Given the description of an element on the screen output the (x, y) to click on. 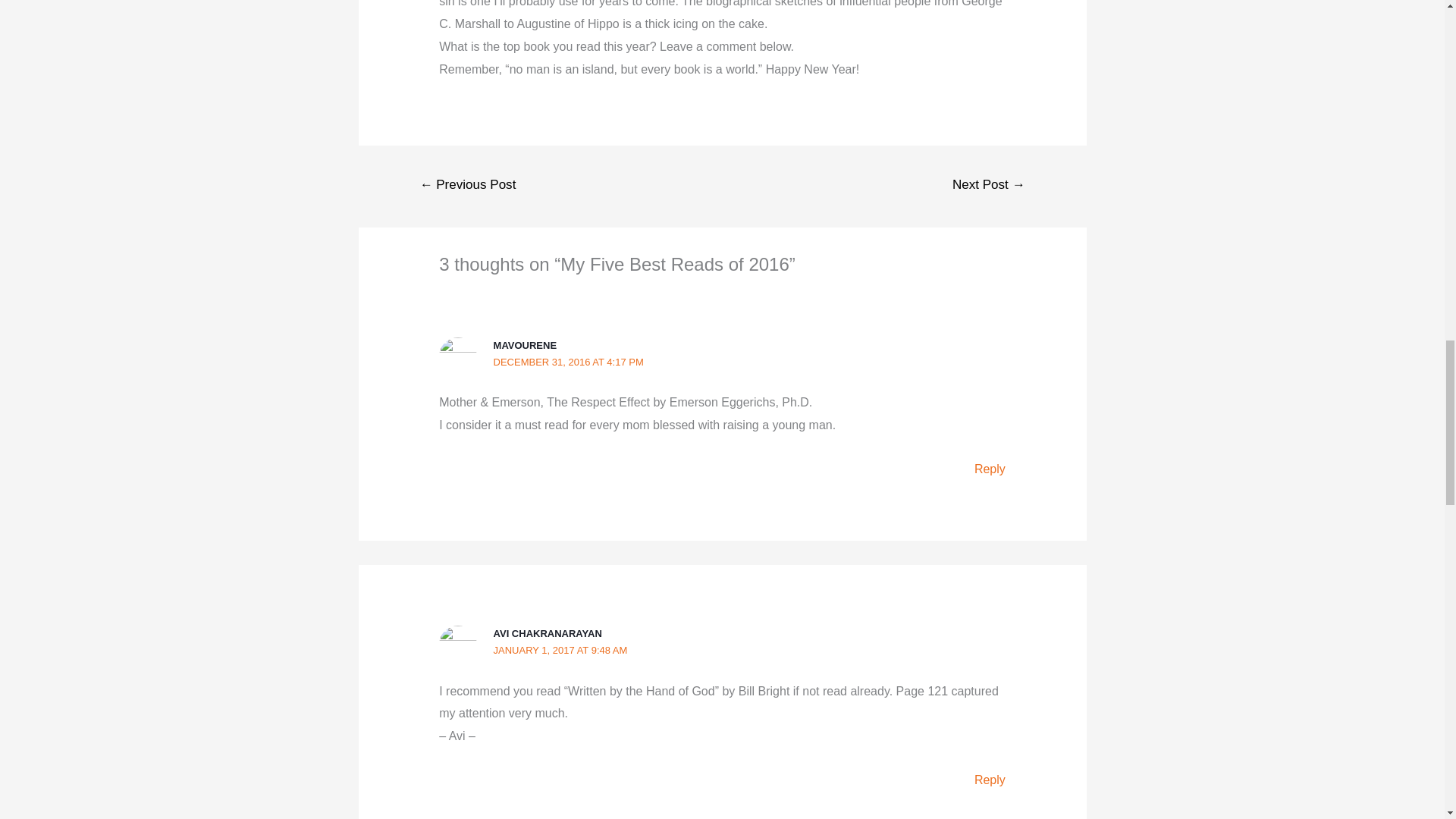
Reply (990, 468)
JANUARY 1, 2017 AT 9:48 AM (560, 650)
Reply (990, 779)
DECEMBER 31, 2016 AT 4:17 PM (568, 361)
